Given the description of an element on the screen output the (x, y) to click on. 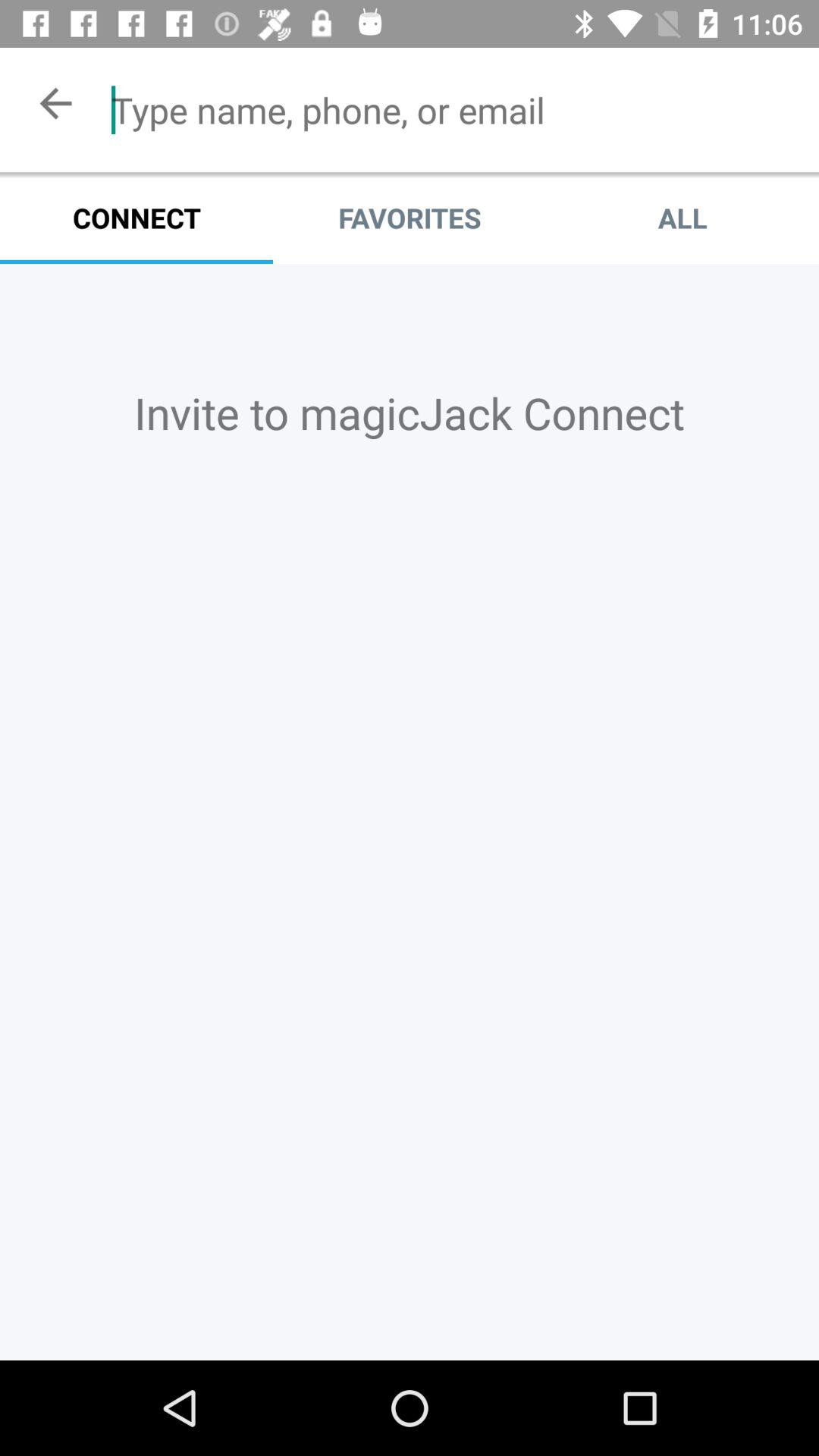
turn off the icon above connect item (453, 109)
